Given the description of an element on the screen output the (x, y) to click on. 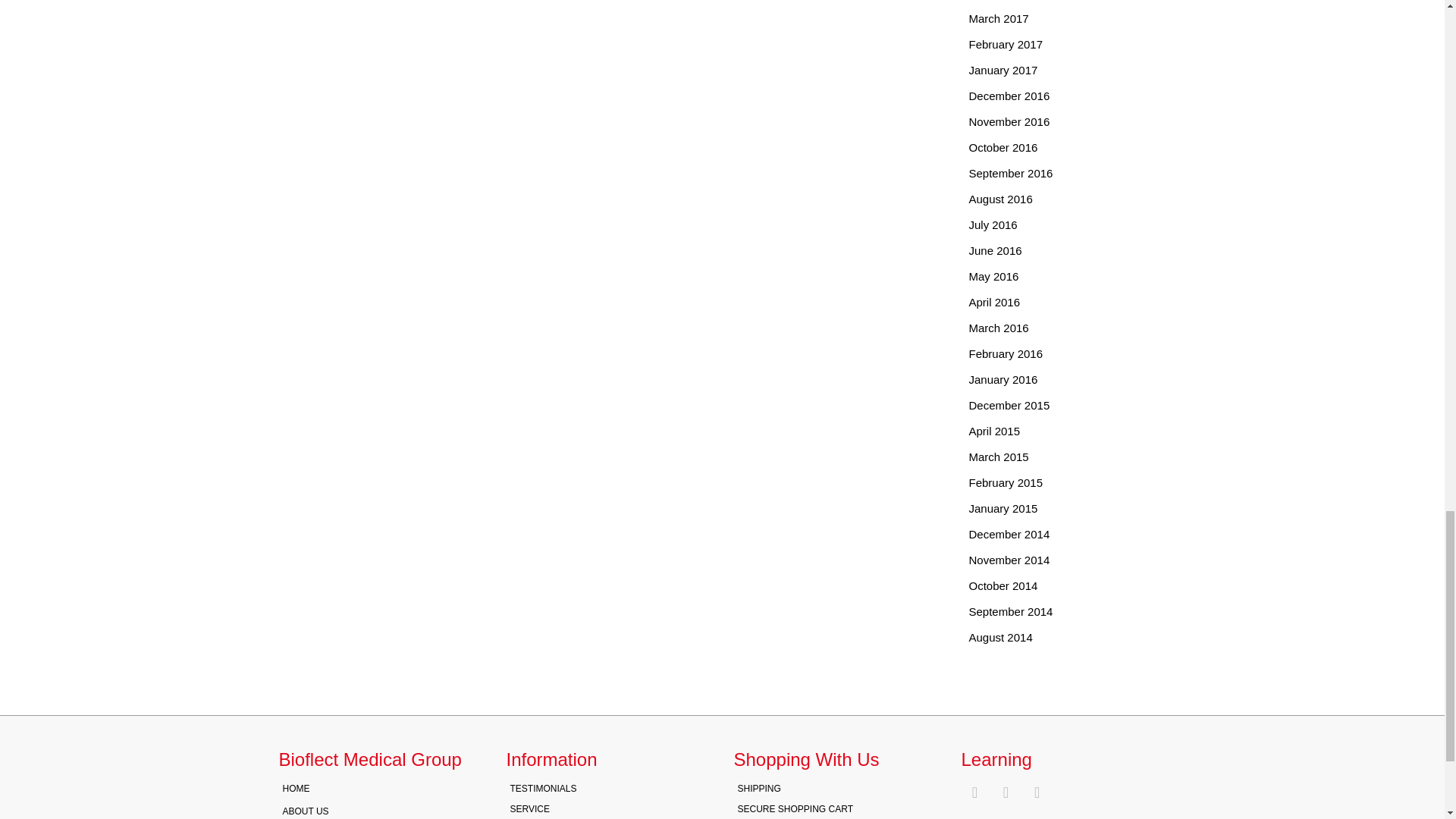
Subscribe to our Blog (974, 792)
Follow Us on Twitter (1037, 792)
Like Us on Facebook (1005, 792)
